Given the description of an element on the screen output the (x, y) to click on. 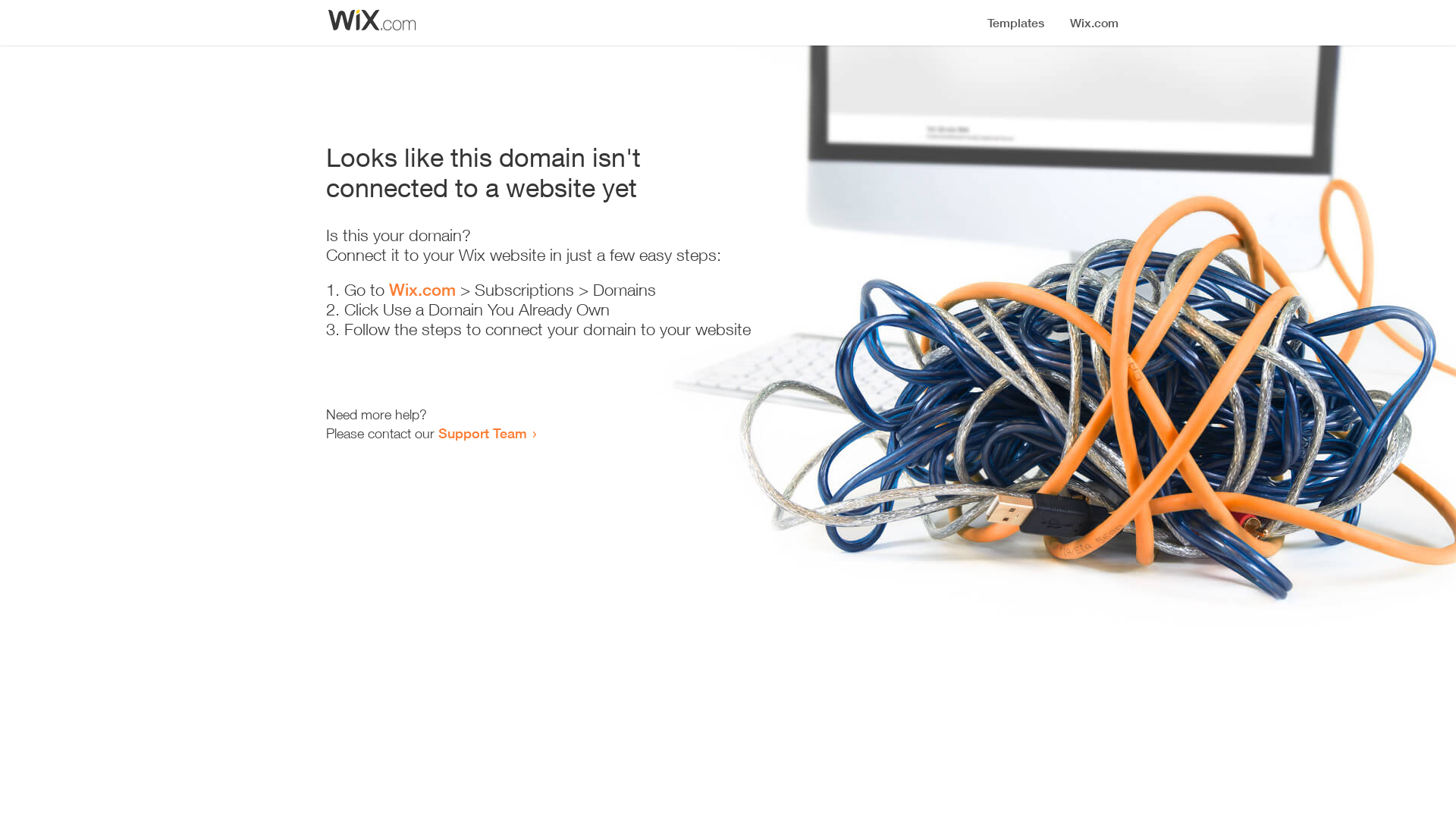
Wix.com Element type: text (422, 289)
Support Team Element type: text (482, 432)
